Given the description of an element on the screen output the (x, y) to click on. 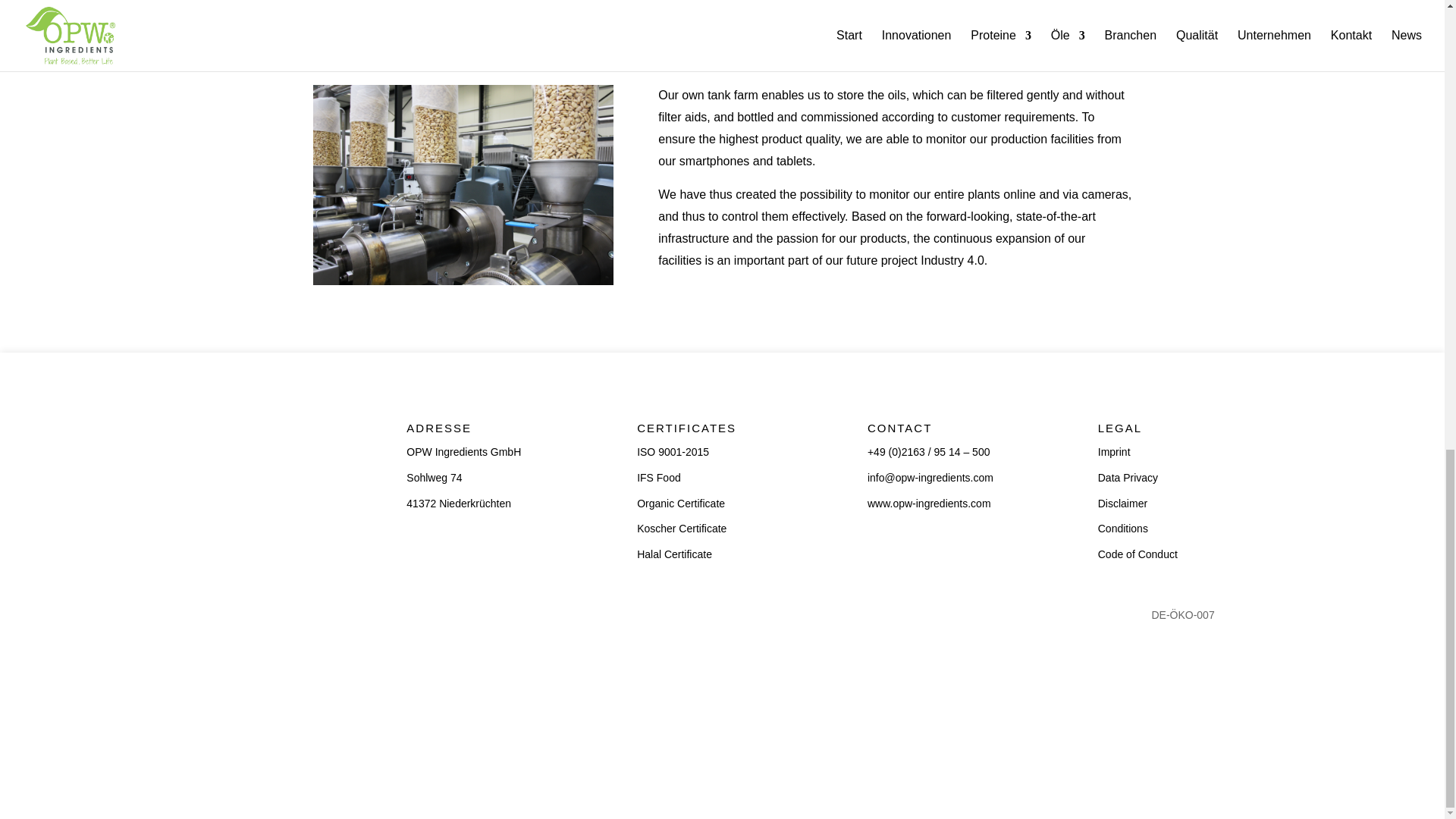
technology (462, 185)
Page 3 (722, 34)
Page 3 (894, 178)
